Given the description of an element on the screen output the (x, y) to click on. 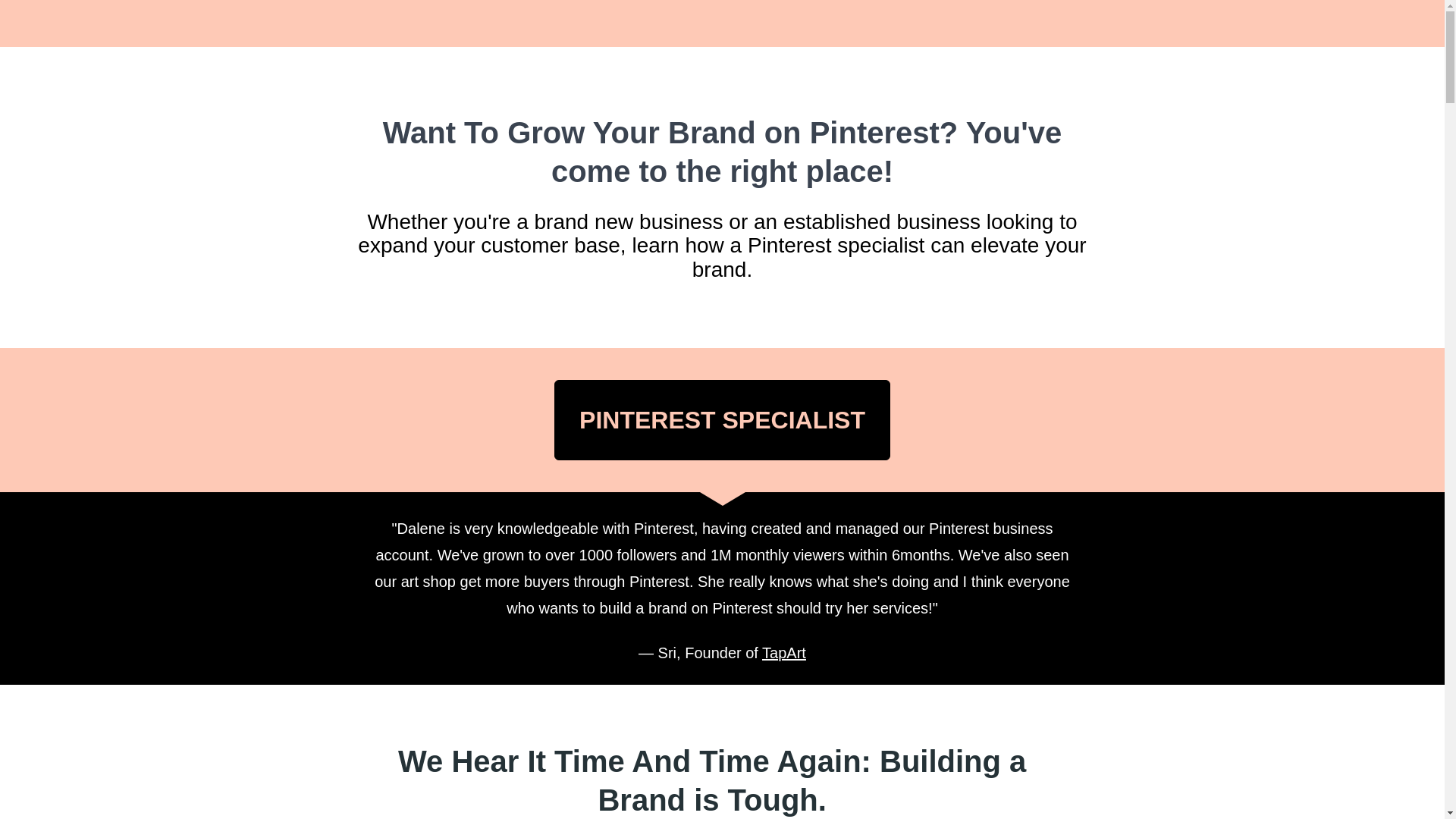
TapArt (783, 652)
PINTEREST SPECIALIST (721, 420)
